Given the description of an element on the screen output the (x, y) to click on. 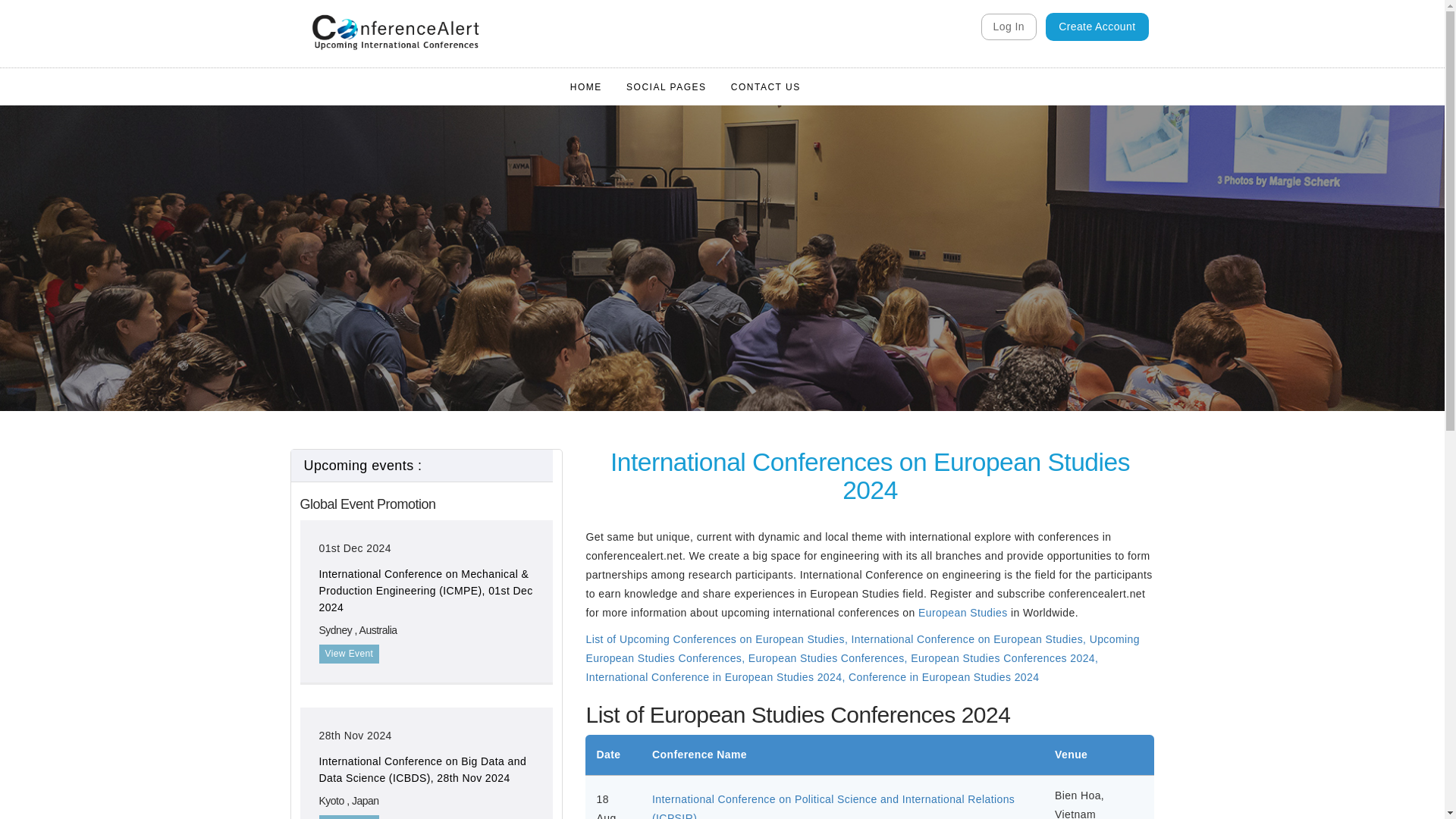
International Conference on European Studies, (969, 639)
Conference in European Studies 2024 (943, 676)
HOME (585, 86)
Upcoming European Studies Conferences, (861, 648)
European Studies (962, 612)
Create Account (1096, 26)
View Event (348, 816)
European Studies Conferences, (829, 657)
International Conference in European Studies 2024, (716, 676)
HOME SOCIAL PAGES CONTACT US (684, 86)
